Given the description of an element on the screen output the (x, y) to click on. 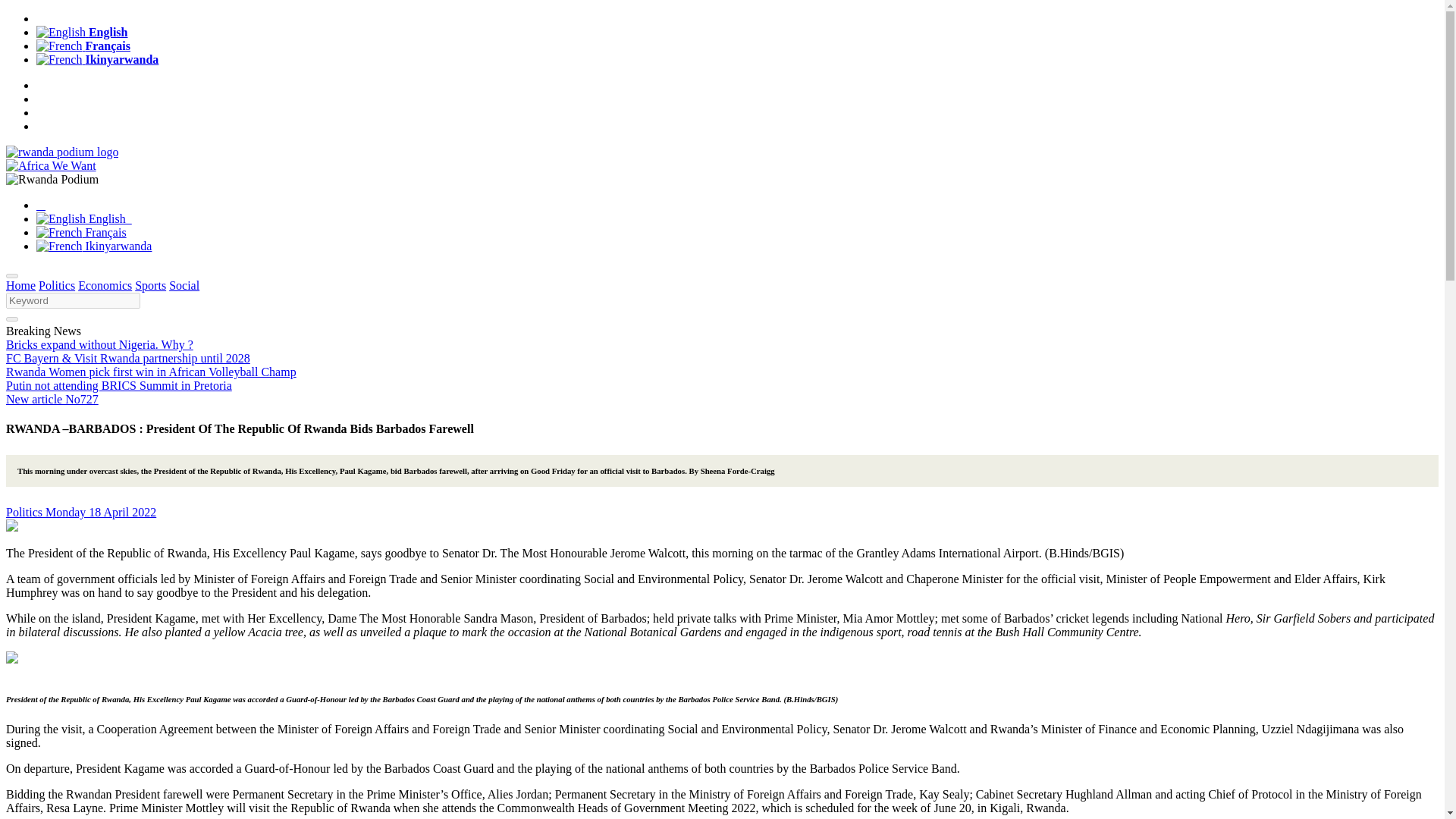
New article No727 (52, 399)
Monday 18 April 2022 (100, 512)
Economics (105, 285)
Home (19, 285)
English (82, 31)
Bricks expand without Nigeria. Why ? (99, 344)
Ikinyarwanda (97, 59)
Politics (57, 285)
Sports (150, 285)
 English   (84, 218)
Politics (25, 512)
 Ikinyarwanda (93, 245)
Social (183, 285)
Putin not attending BRICS Summit in Pretoria (118, 385)
Rwanda Women pick first win in African Volleyball Champ (151, 371)
